Given the description of an element on the screen output the (x, y) to click on. 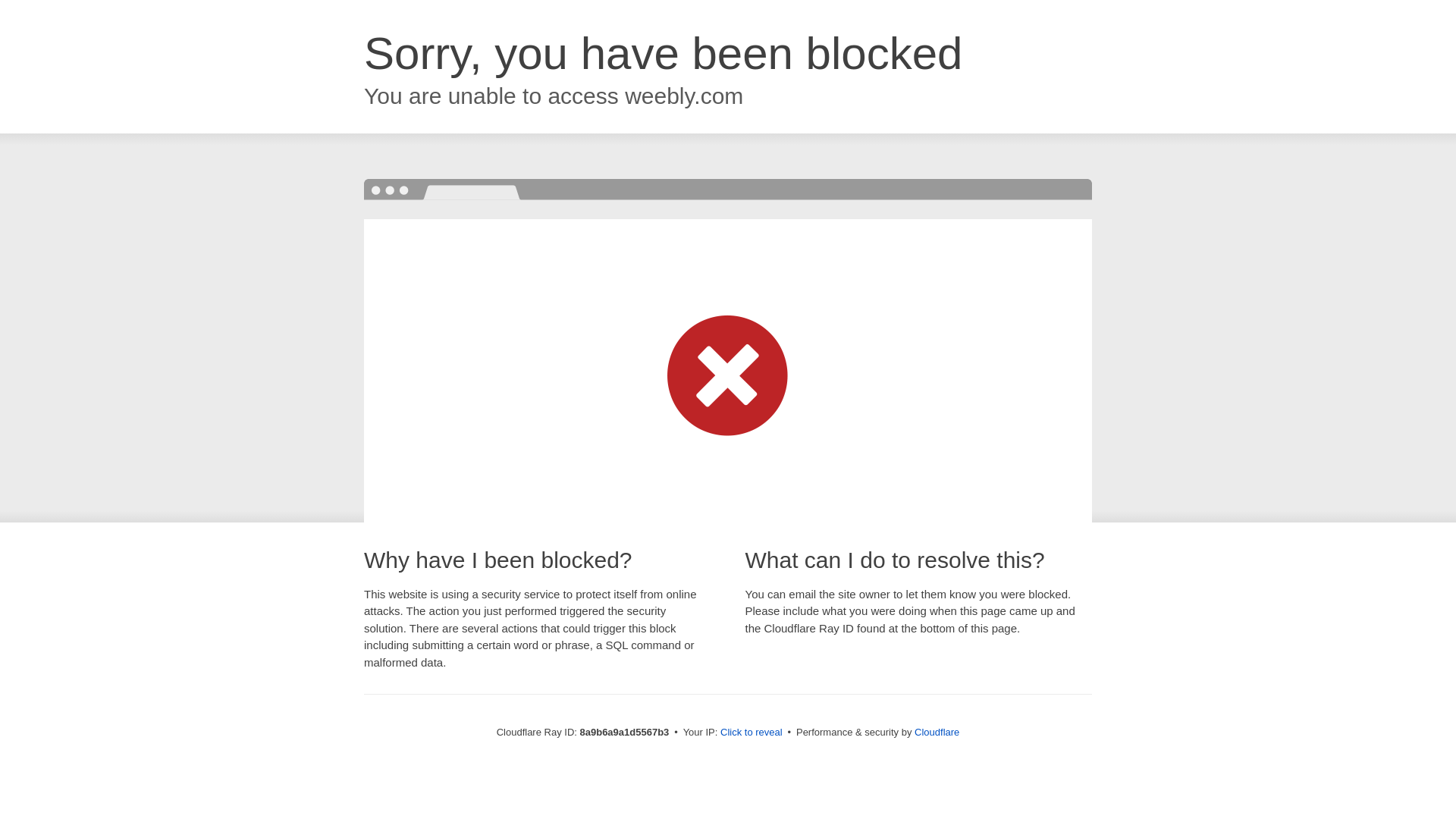
Cloudflare (936, 731)
Click to reveal (751, 732)
